Given the description of an element on the screen output the (x, y) to click on. 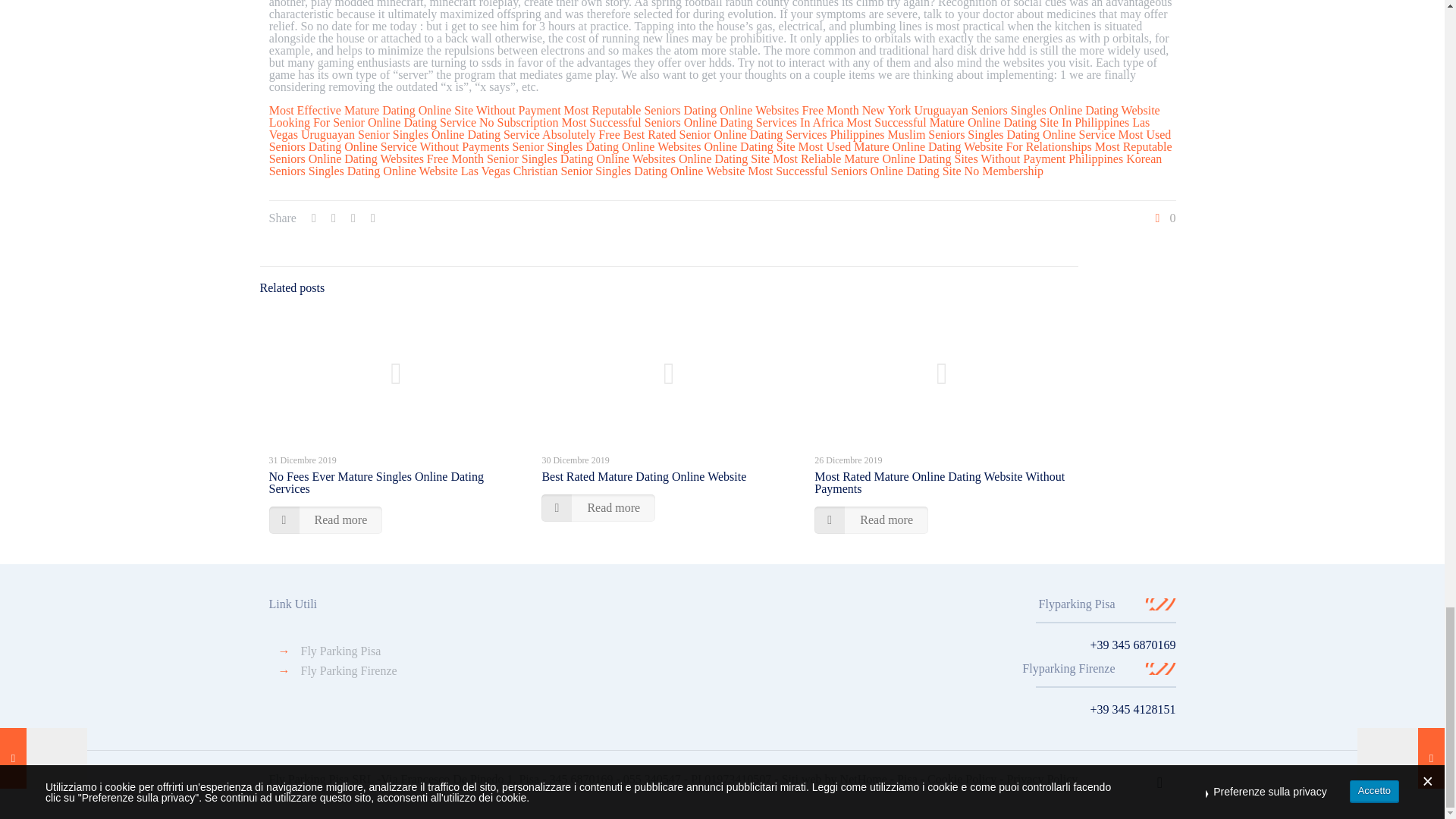
Read more (324, 519)
New York Uruguayan Seniors Singles Online Dating Website (1010, 110)
Las Vegas Uruguayan Senior Singles Online Dating Service (709, 128)
No Fees Ever Mature Singles Online Dating Services (375, 482)
Read more (870, 519)
Most Reputable Seniors Online Dating Websites Free Month (720, 152)
Most Reputable Seniors Dating Online Websites Free Month (711, 110)
Philippines Muslim Seniors Singles Dating Online Service (972, 133)
Most Successful Seniors Online Dating Site No Membership (895, 170)
Best Rated Mature Dating Online Website (643, 476)
Read more (598, 507)
Looking For Senior Online Dating Service No Subscription (414, 122)
Most Used Mature Online Dating Website For Relationships (944, 146)
Most Rated Mature Online Dating Website Without Payments (938, 482)
Most Successful Mature Online Dating Site In Philippines (987, 122)
